Given the description of an element on the screen output the (x, y) to click on. 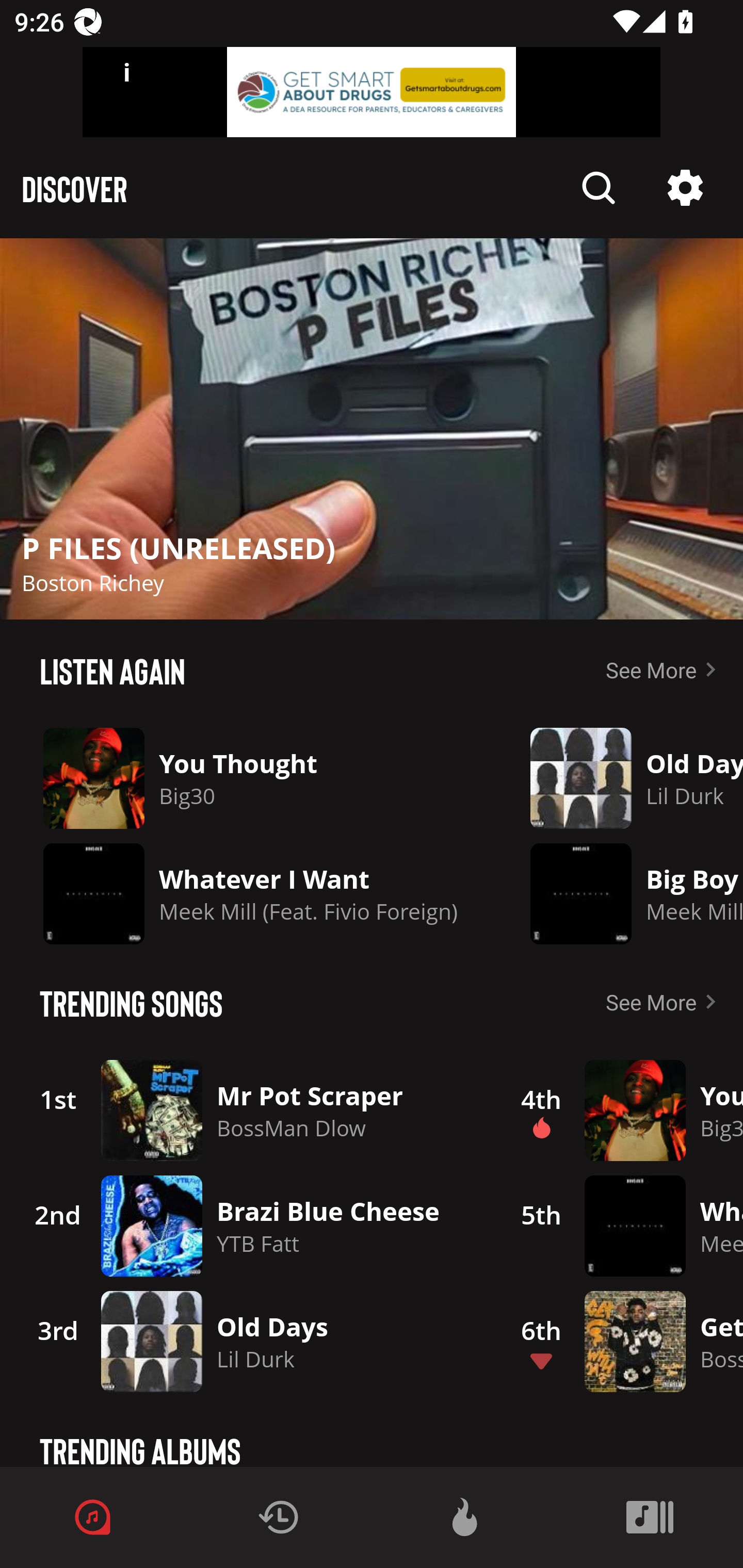
Description (598, 188)
Description (684, 188)
Description (371, 428)
See More (664, 669)
Description You Thought Big30 (250, 778)
Description Old Days Lil Durk (622, 778)
Description Big Boy Meek Mill (622, 893)
See More (664, 1001)
1st Description Mr Pot Scraper BossMan Dlow (248, 1110)
4th Description Description You Thought Big30 (620, 1110)
2nd Description Brazi Blue Cheese YTB Fatt (248, 1226)
3rd Description Old Days Lil Durk (248, 1341)
